Given the description of an element on the screen output the (x, y) to click on. 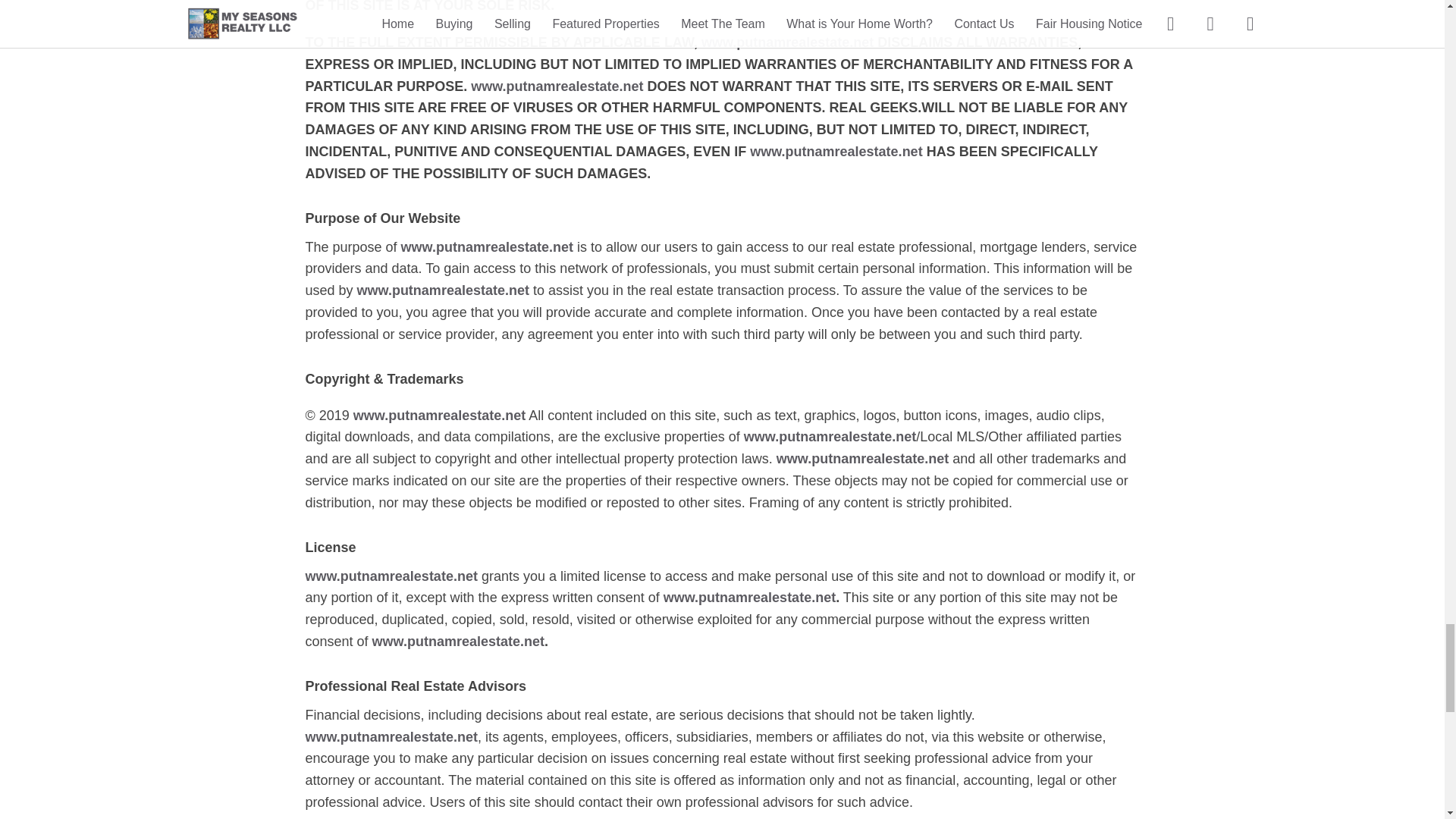
www.putnamrealestate.net (390, 575)
www.putnamrealestate.net (487, 246)
www.putnamrealestate.net (556, 86)
www.putnamrealestate.net (787, 42)
www.putnamrealestate.net (749, 597)
www.putnamrealestate.net (390, 736)
www.putnamrealestate.net (458, 641)
www.putnamrealestate.net (439, 415)
www.putnamrealestate.net (829, 436)
www.putnamrealestate.net (835, 151)
www.putnamrealestate.net (862, 458)
www.putnamrealestate.net (442, 290)
